Given the description of an element on the screen output the (x, y) to click on. 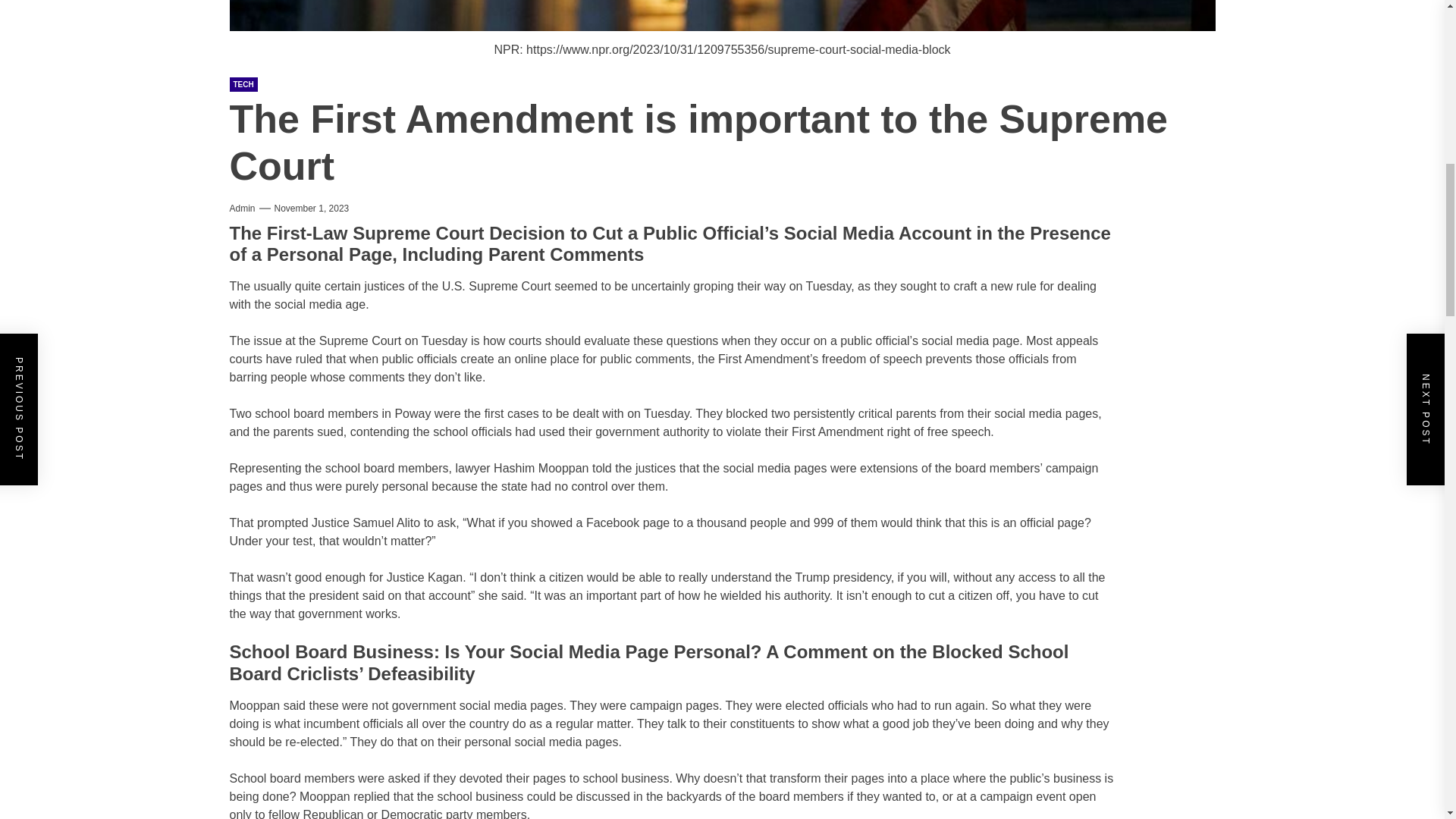
November 1, 2023 (312, 208)
TECH (242, 83)
Admin (241, 208)
